Given the description of an element on the screen output the (x, y) to click on. 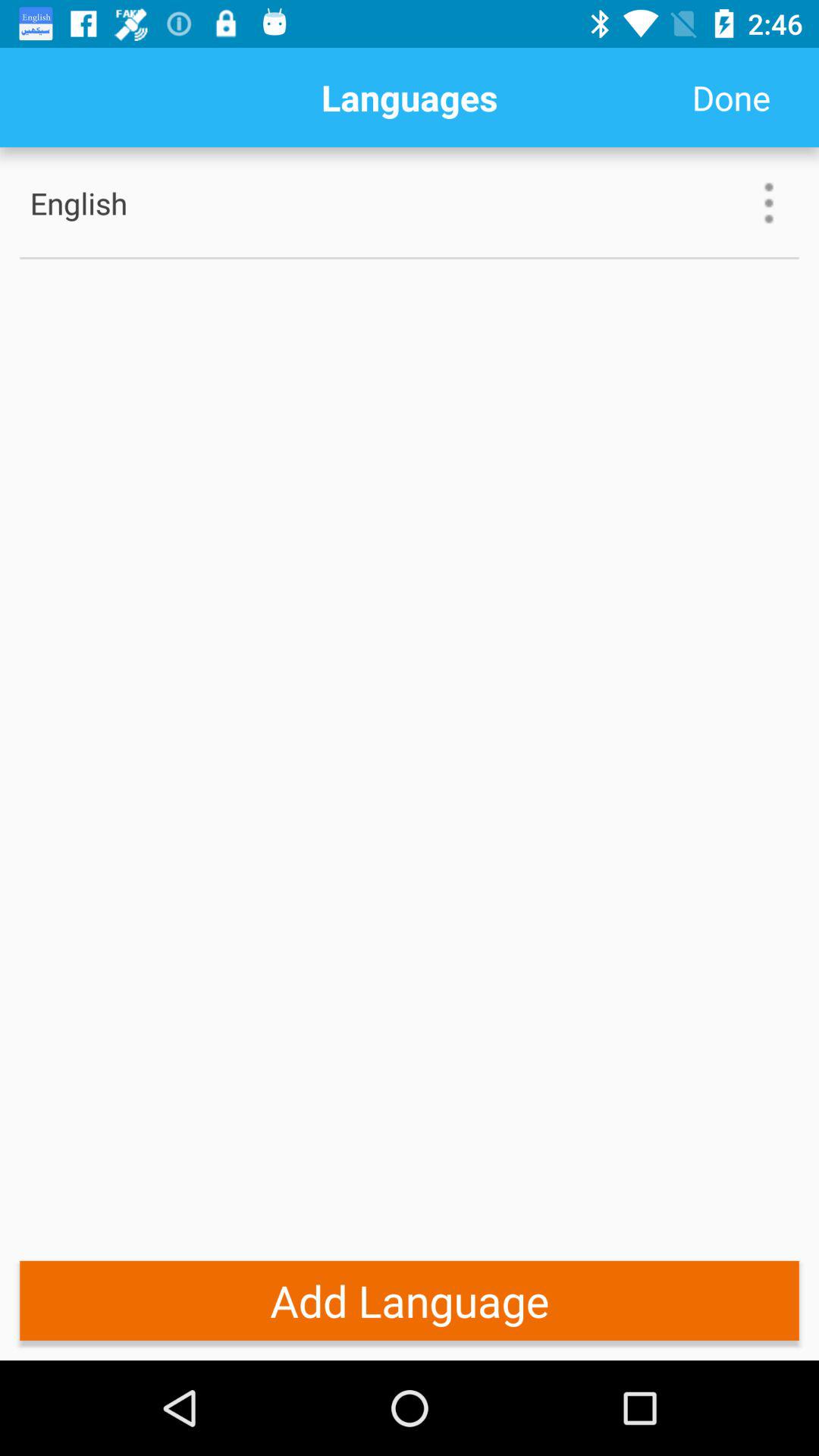
open menu (768, 202)
